Given the description of an element on the screen output the (x, y) to click on. 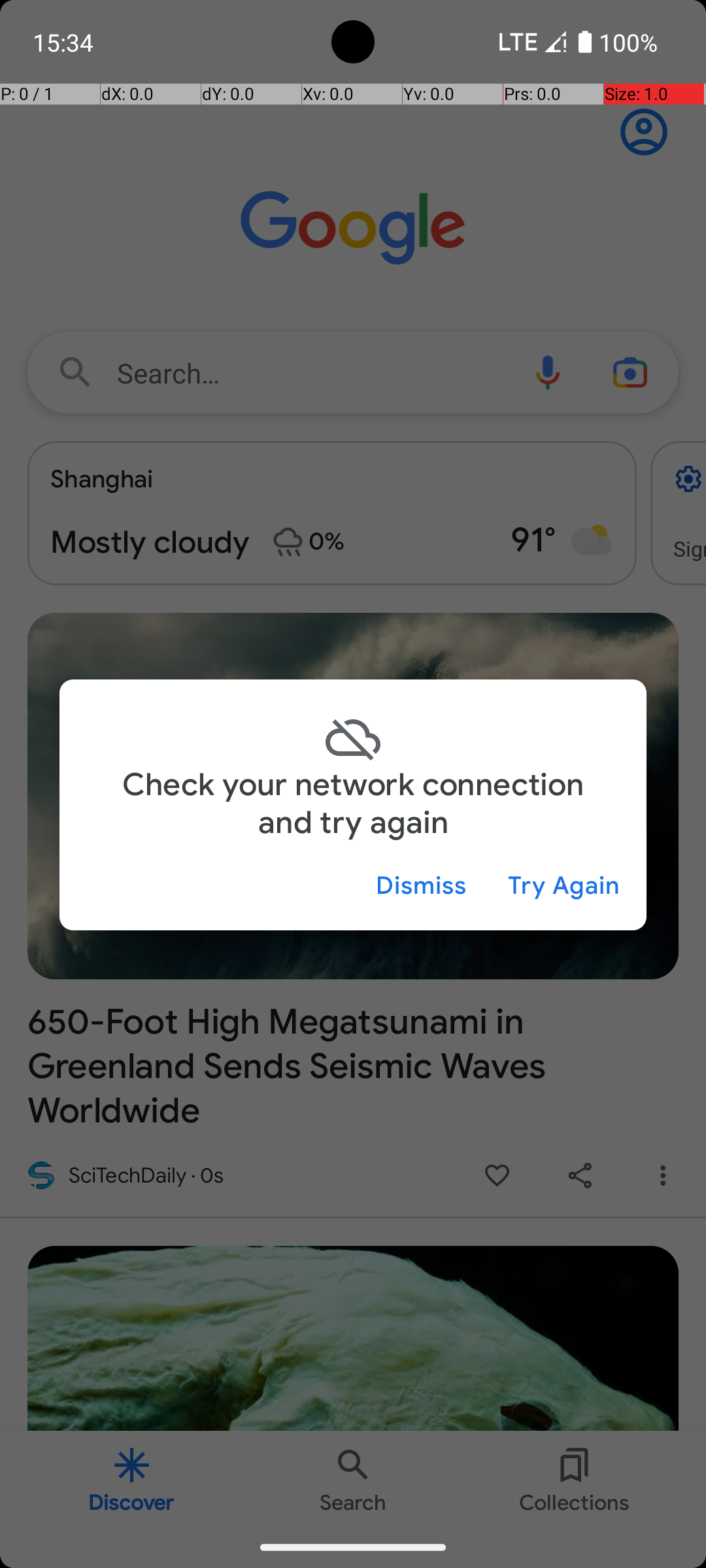
Check your network connection and try again Element type: android.widget.TextView (352, 803)
Try Again Element type: android.widget.Button (562, 885)
